Given the description of an element on the screen output the (x, y) to click on. 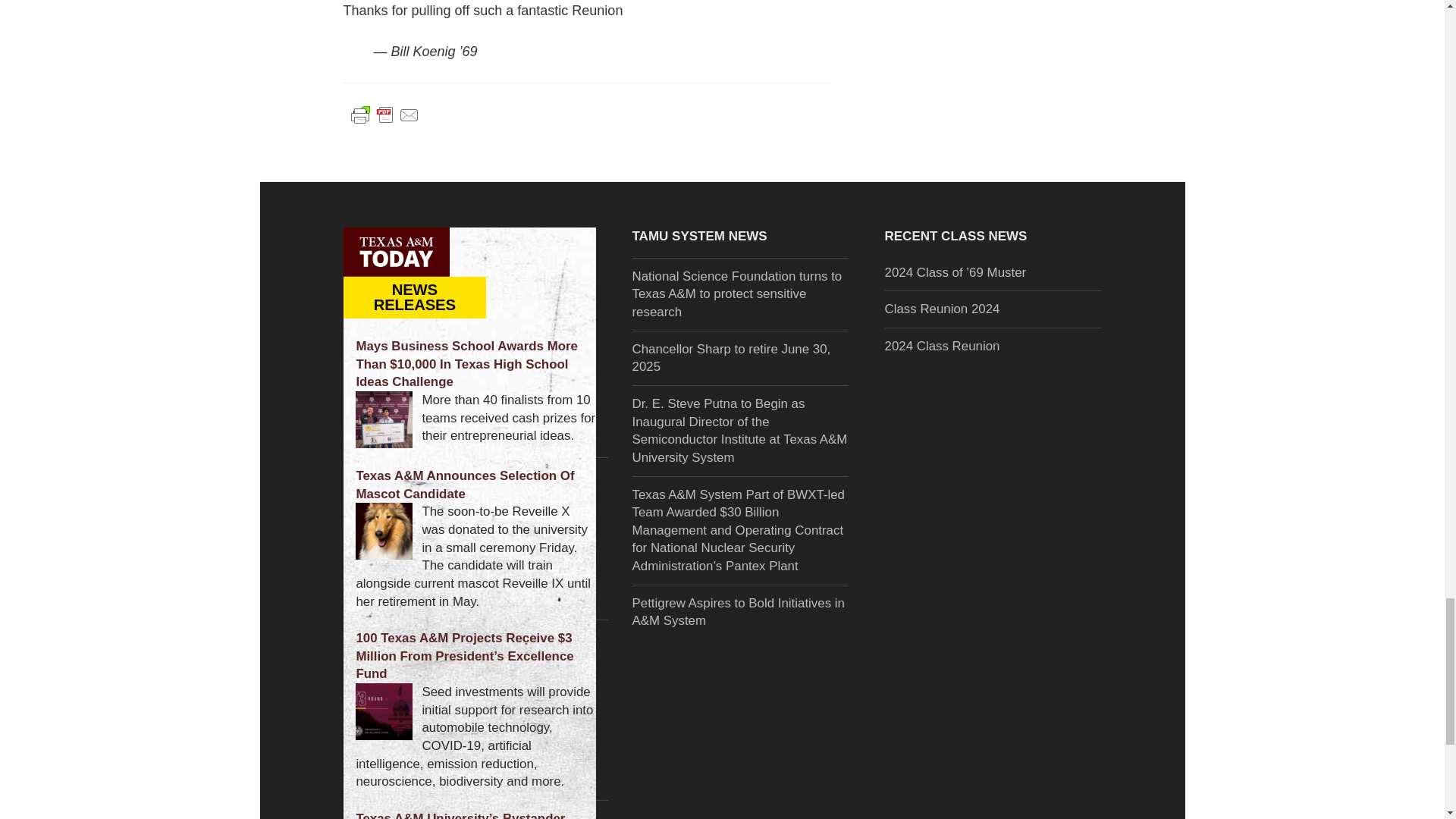
NEWS RELEASES (415, 297)
